Given the description of an element on the screen output the (x, y) to click on. 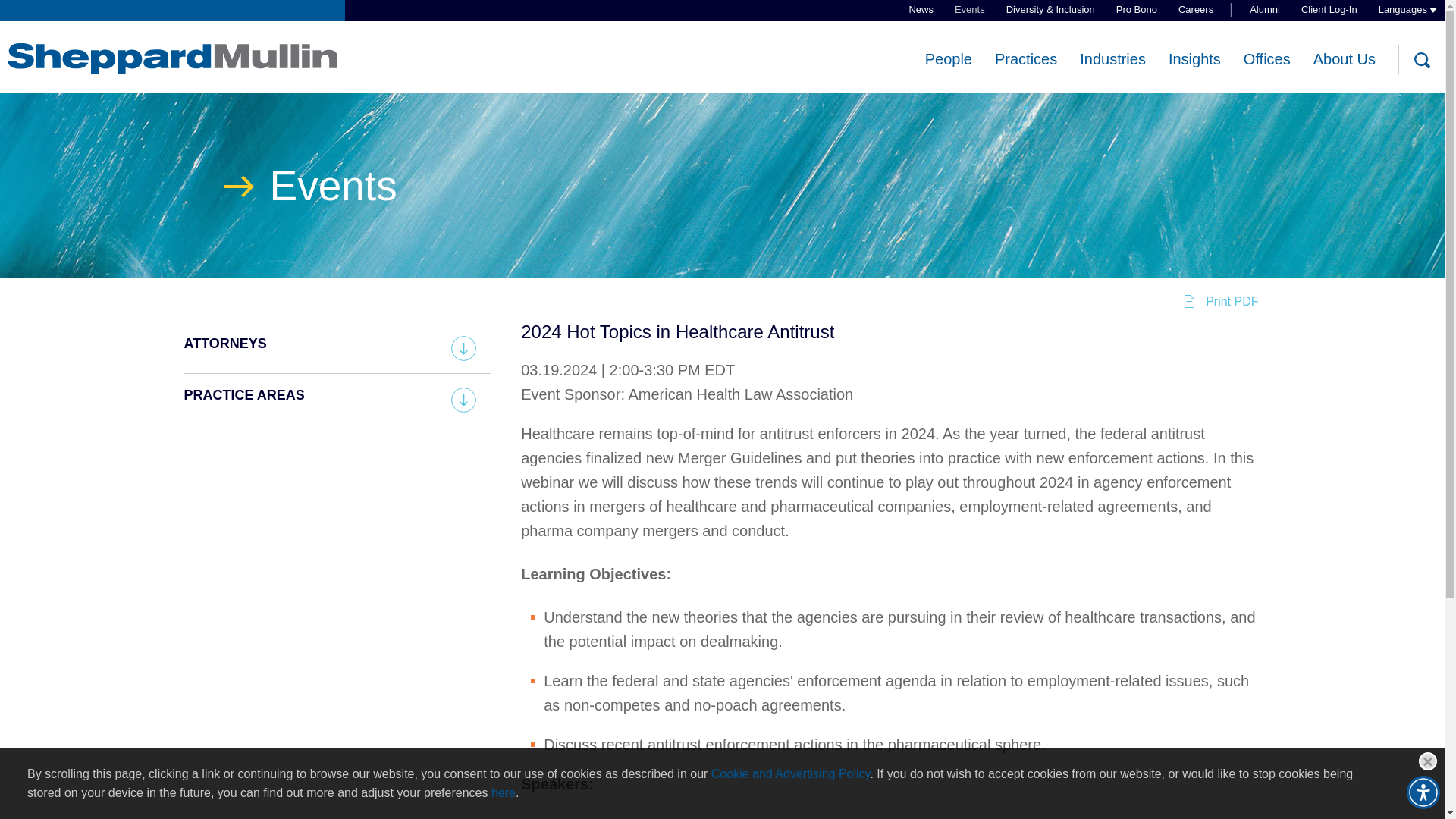
Main Content (666, 20)
Main Menu (673, 20)
Menu (673, 20)
People (948, 59)
Practices (1025, 59)
